Given the description of an element on the screen output the (x, y) to click on. 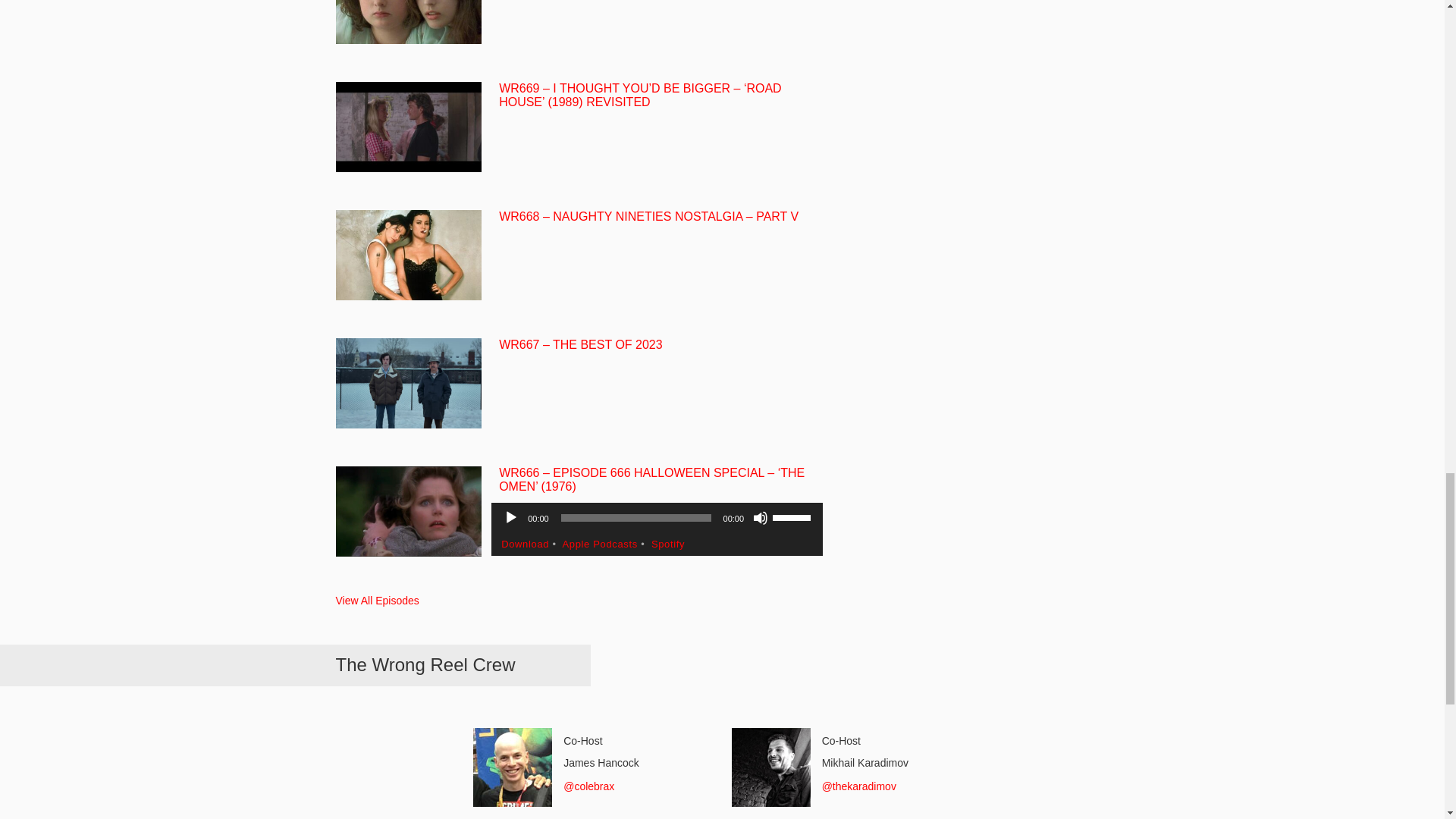
Play (510, 517)
Mute (760, 517)
